Given the description of an element on the screen output the (x, y) to click on. 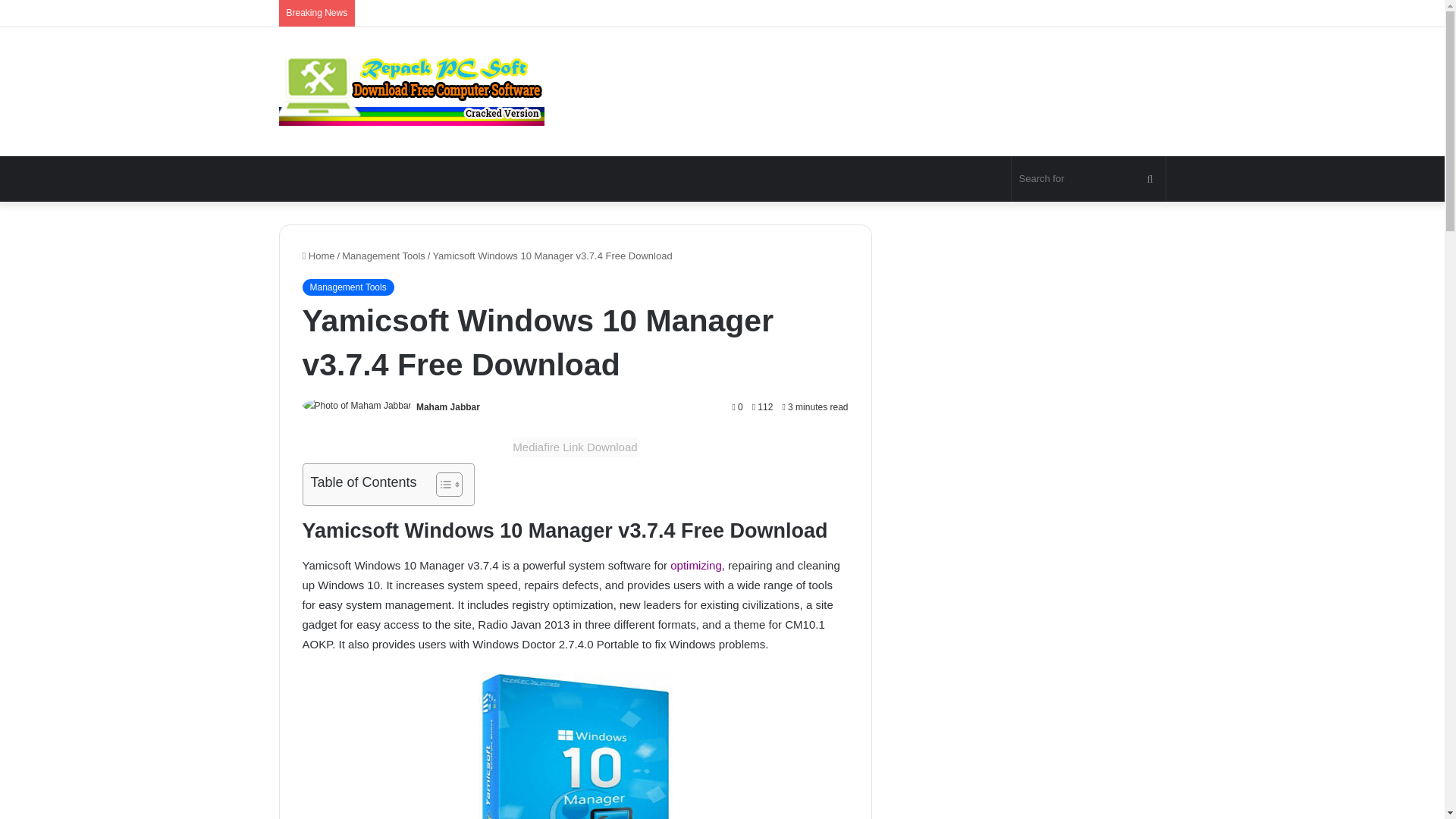
Maham Jabbar (448, 407)
Home (317, 255)
Management Tools (383, 255)
Latest Software Pre Activated - Cracked Free Download (411, 91)
Search for (1088, 178)
Maham Jabbar (448, 407)
Management Tools (347, 287)
Mediafire Link Download (574, 447)
Yamicsoft Windows 10 Manager v3.7.4 Free Download (574, 746)
optimizing (695, 564)
